Given the description of an element on the screen output the (x, y) to click on. 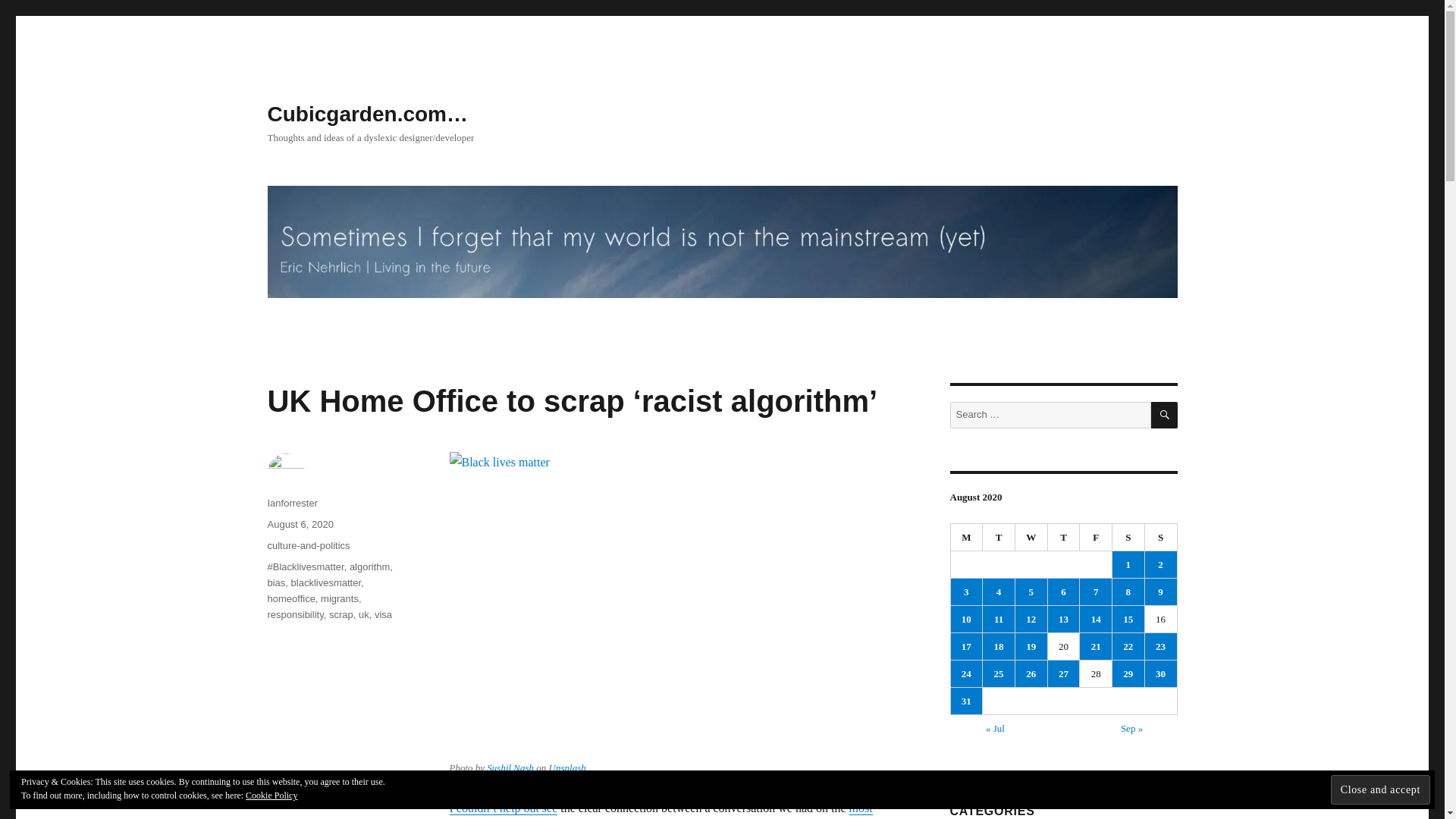
visa (382, 614)
Ianforrester (291, 502)
August 6, 2020 (299, 523)
algorithm (369, 566)
Sushil Nash (510, 767)
responsibility (294, 614)
bias (275, 582)
scrap (341, 614)
migrants (339, 598)
homeoffice (290, 598)
